Given the description of an element on the screen output the (x, y) to click on. 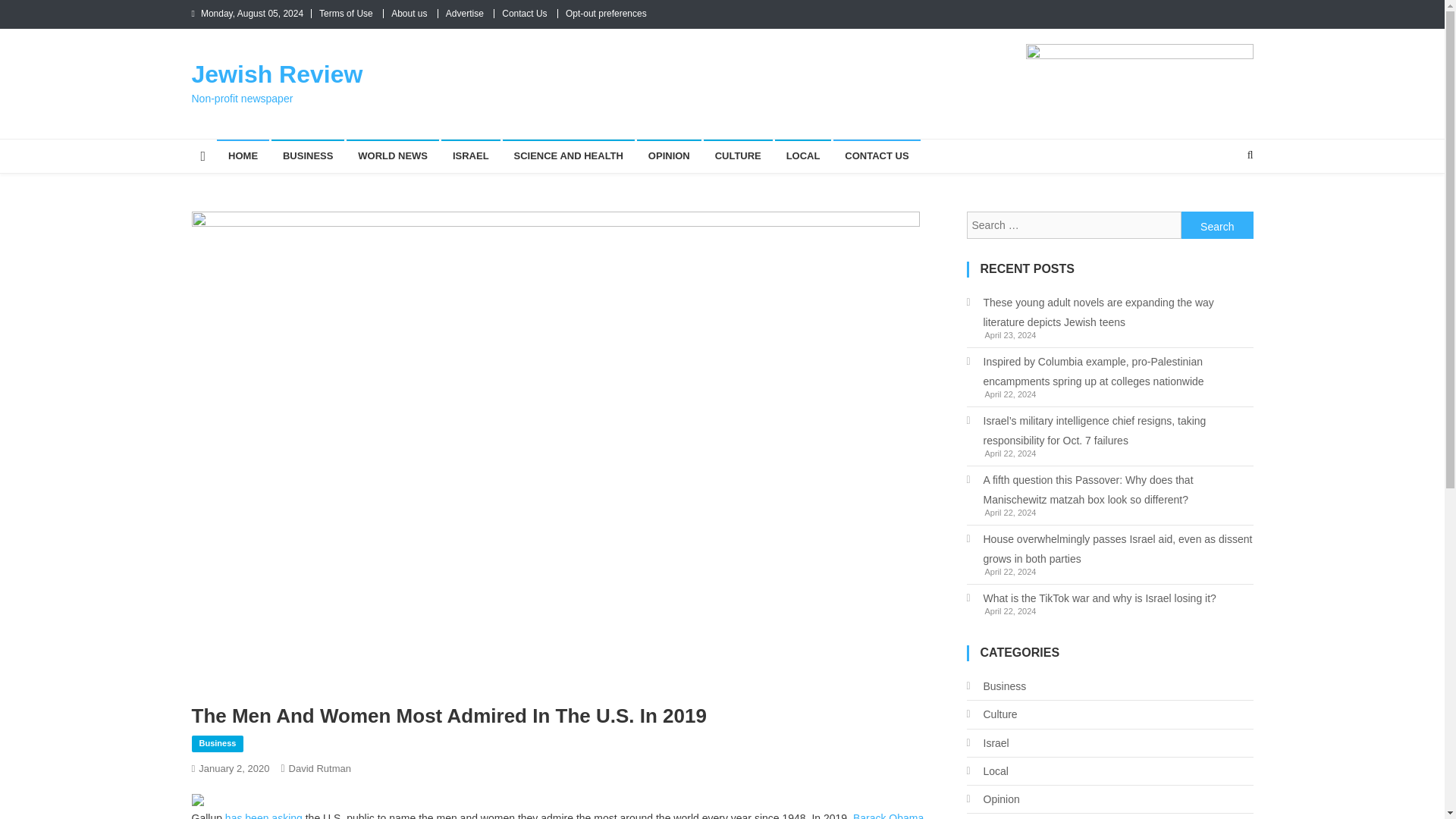
Business (216, 743)
CONTACT US (876, 155)
CULTURE (738, 155)
Terms of Use (345, 13)
Search (1216, 225)
Search (1221, 205)
Barack Obama (888, 815)
Opt-out preferences (606, 13)
ISRAEL (470, 155)
LOCAL (802, 155)
